Given the description of an element on the screen output the (x, y) to click on. 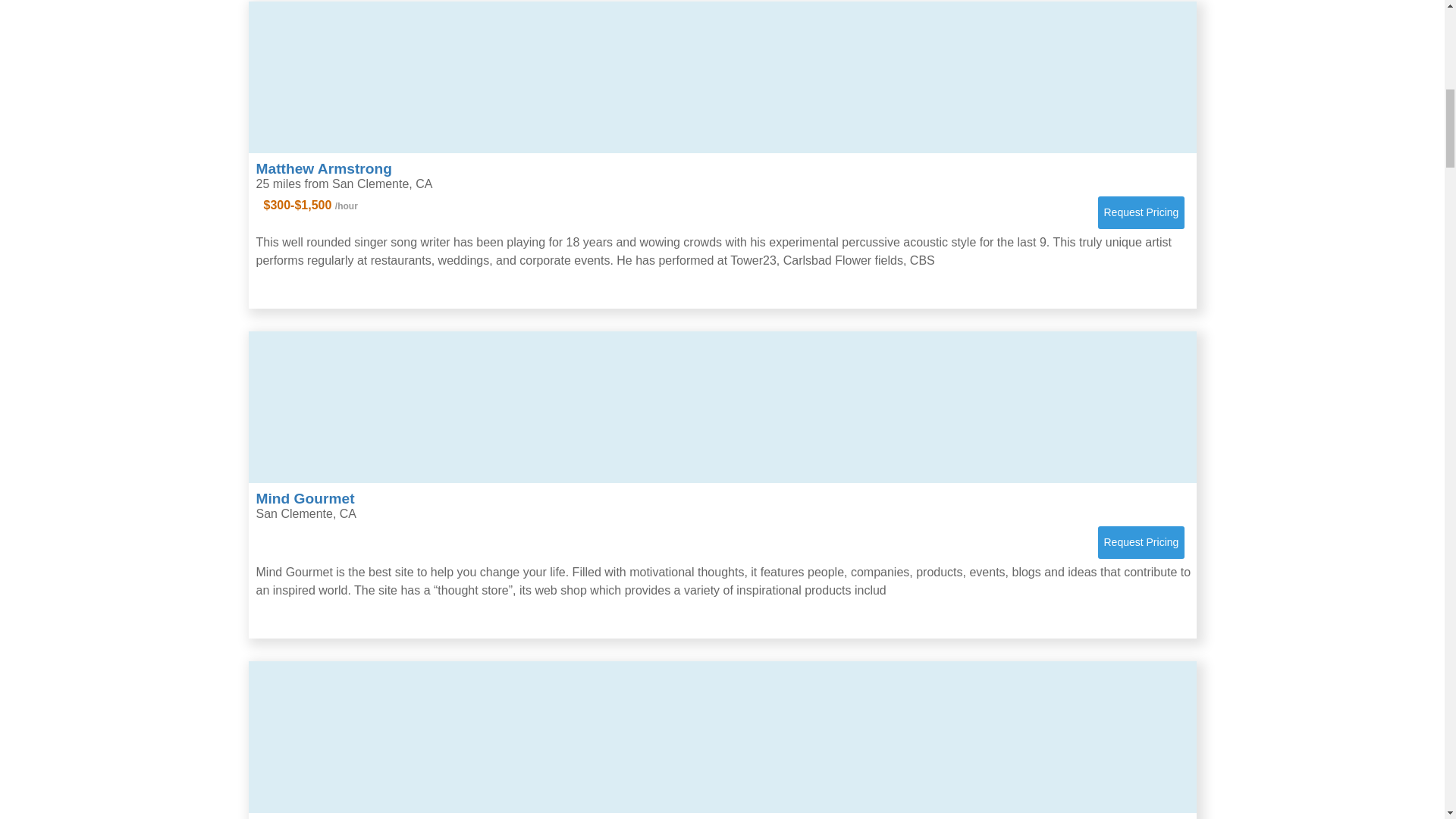
Request Pricing (1141, 542)
Request Pricing (1141, 212)
Request Pricing (1141, 212)
Request Pricing (1141, 542)
Mind Gourmet (305, 498)
Matthew Armstrong (323, 168)
